Given the description of an element on the screen output the (x, y) to click on. 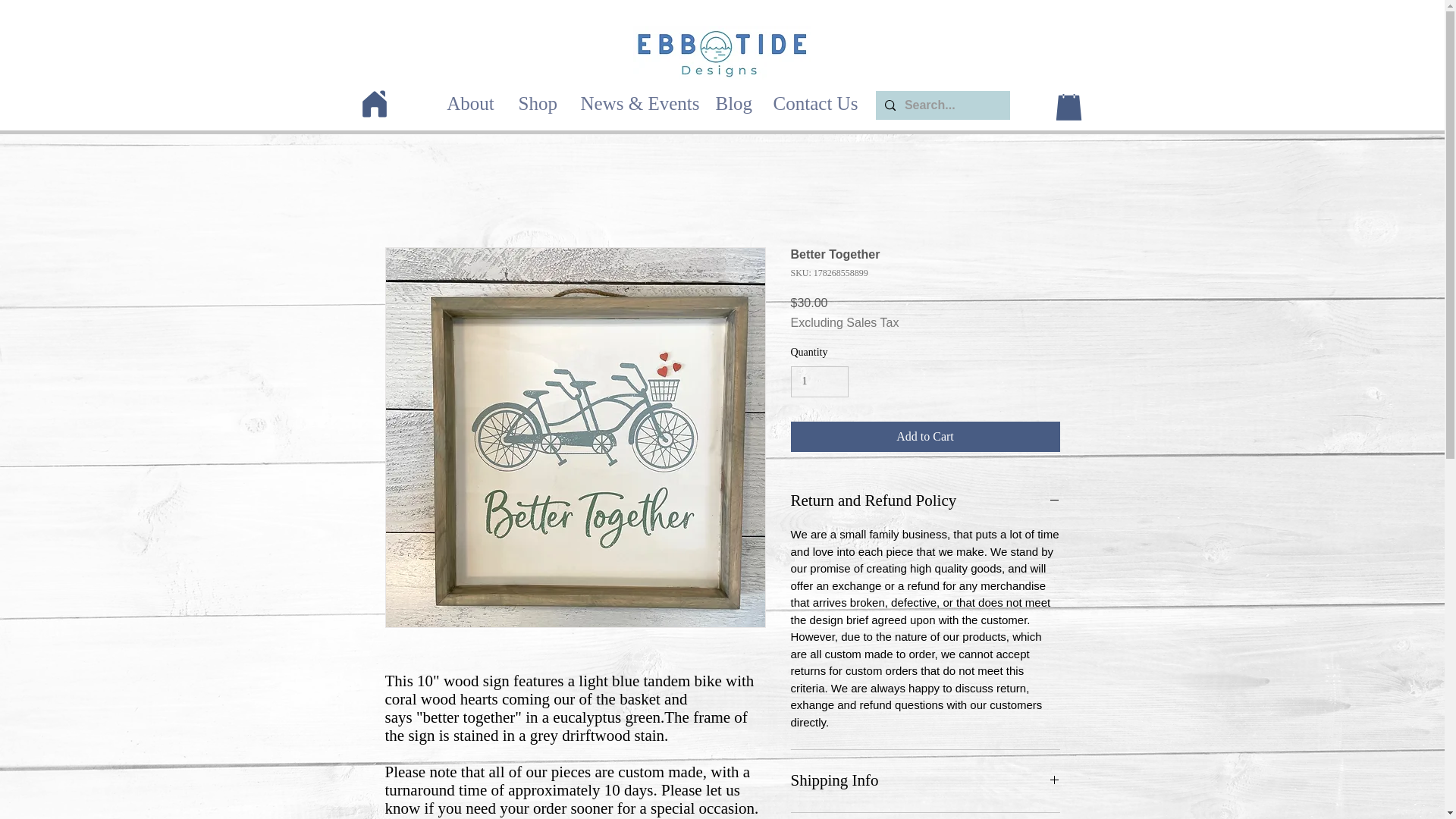
About (470, 102)
Blog (731, 102)
Add to Cart (924, 436)
1 (818, 381)
Shipping Info (924, 780)
Return and Refund Policy (924, 501)
Shop (536, 102)
Contact Us (815, 102)
